Given the description of an element on the screen output the (x, y) to click on. 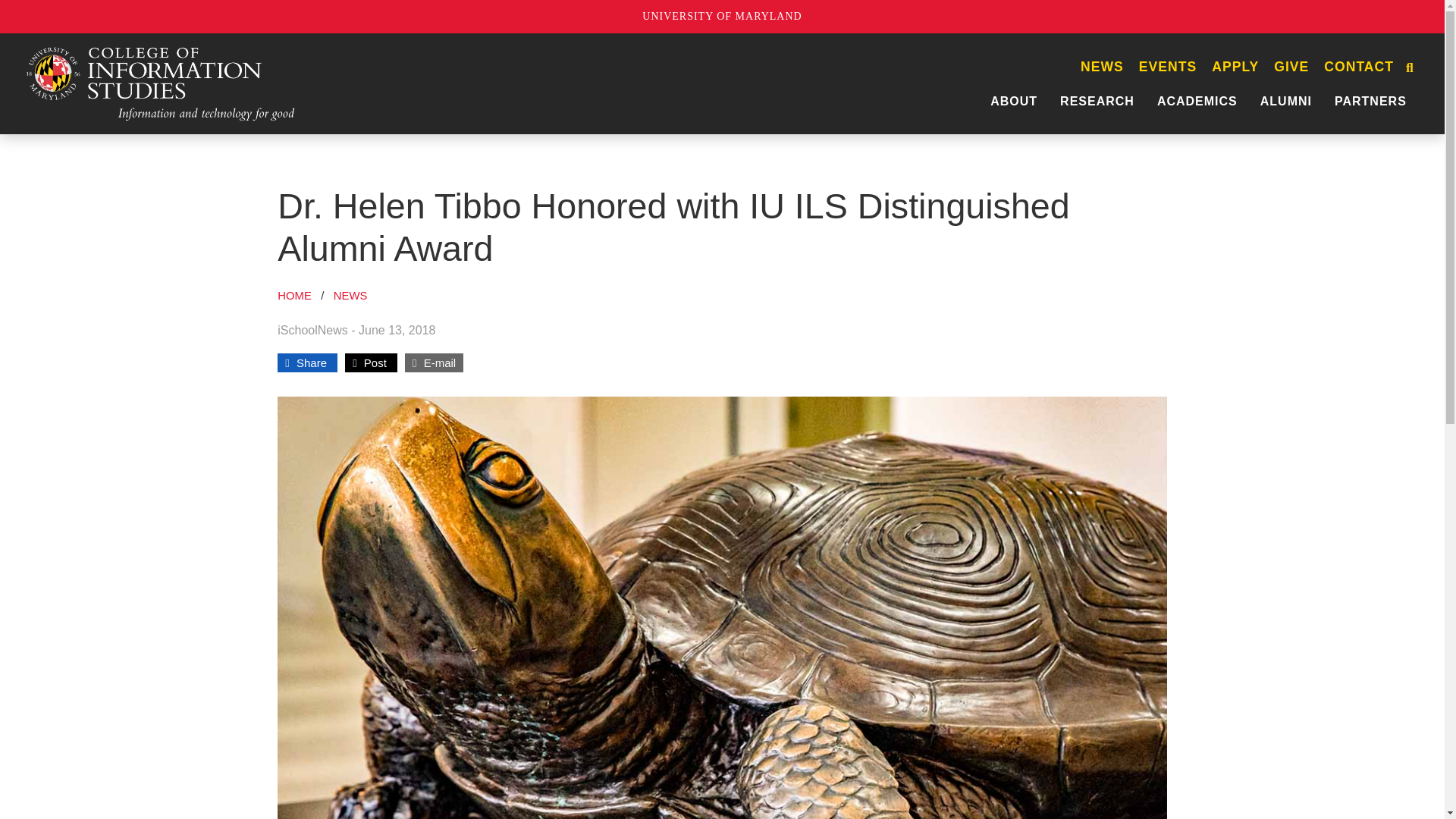
EVENTS (1167, 66)
RESEARCH (1096, 101)
ACADEMICS (1197, 101)
GIVE (1291, 66)
NEWS (1102, 66)
UMD College of Information (160, 83)
ABOUT (1013, 101)
Share this post via e-mail (433, 362)
UNIVERSITY OF MARYLAND (722, 16)
CONTACT (1358, 66)
Share this post on X (371, 362)
APPLY (1235, 66)
Share this post on Facebook (307, 362)
